Given the description of an element on the screen output the (x, y) to click on. 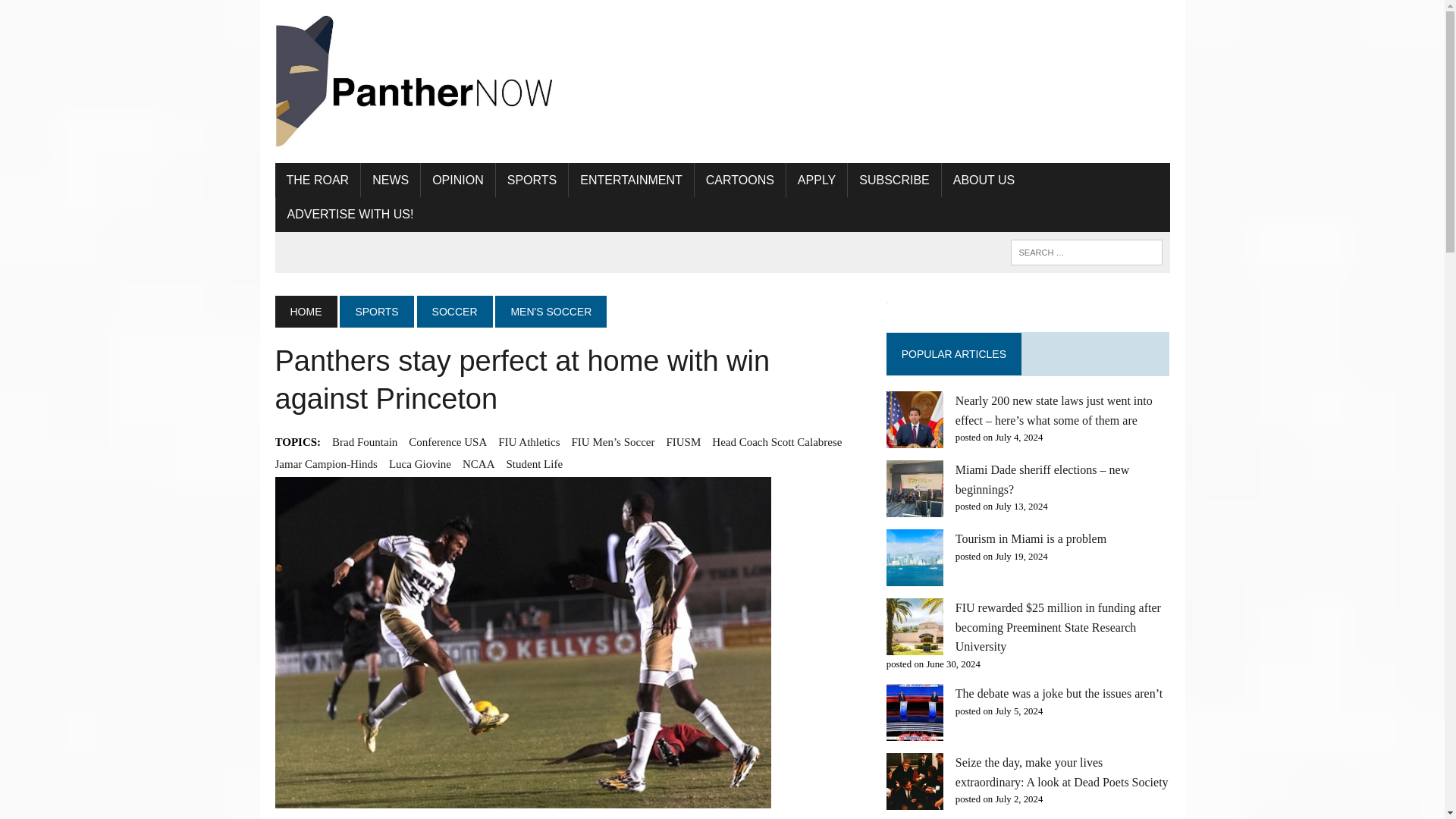
PantherNOW (416, 81)
